Given the description of an element on the screen output the (x, y) to click on. 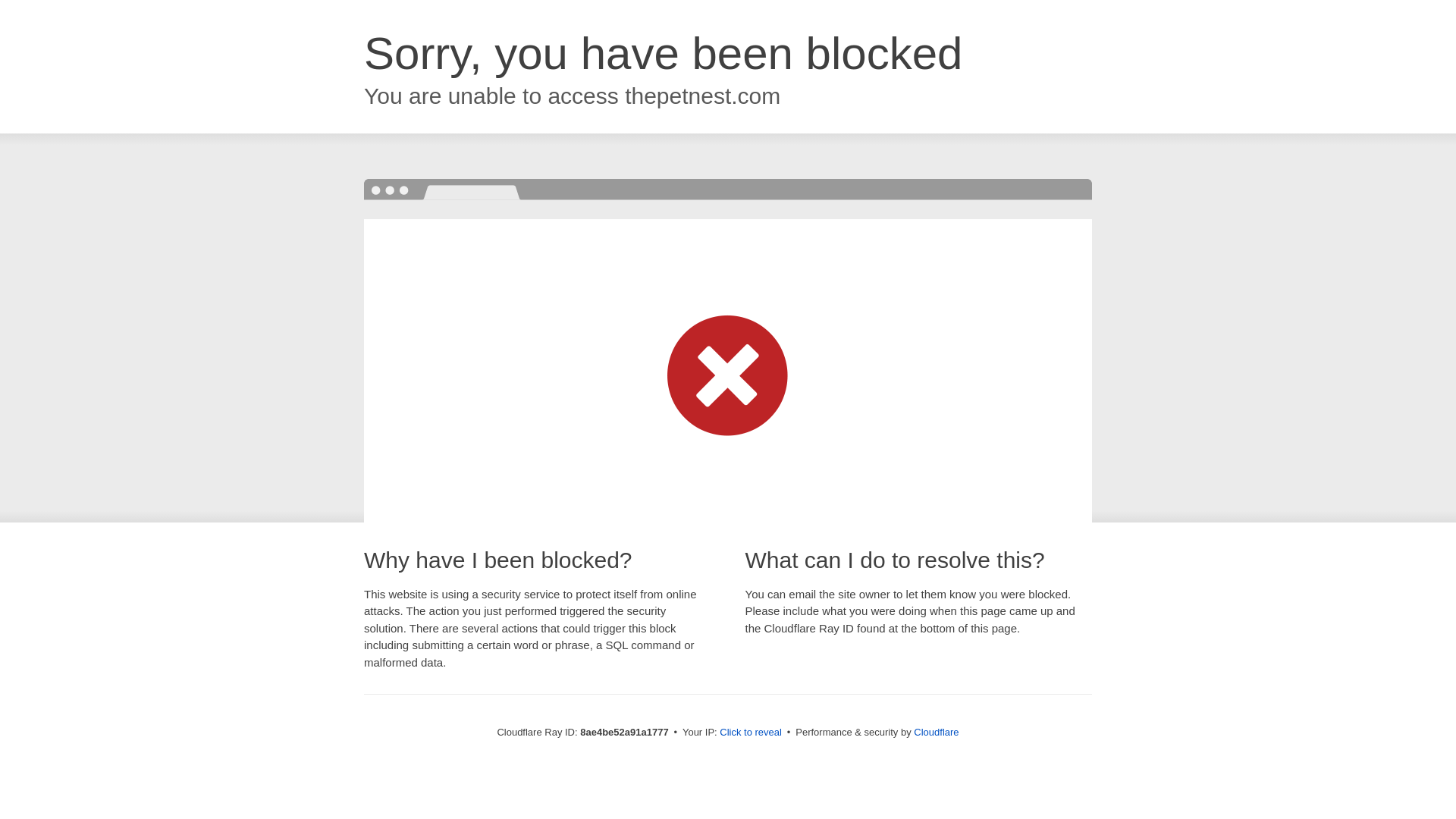
Click to reveal (750, 732)
Cloudflare (936, 731)
